Given the description of an element on the screen output the (x, y) to click on. 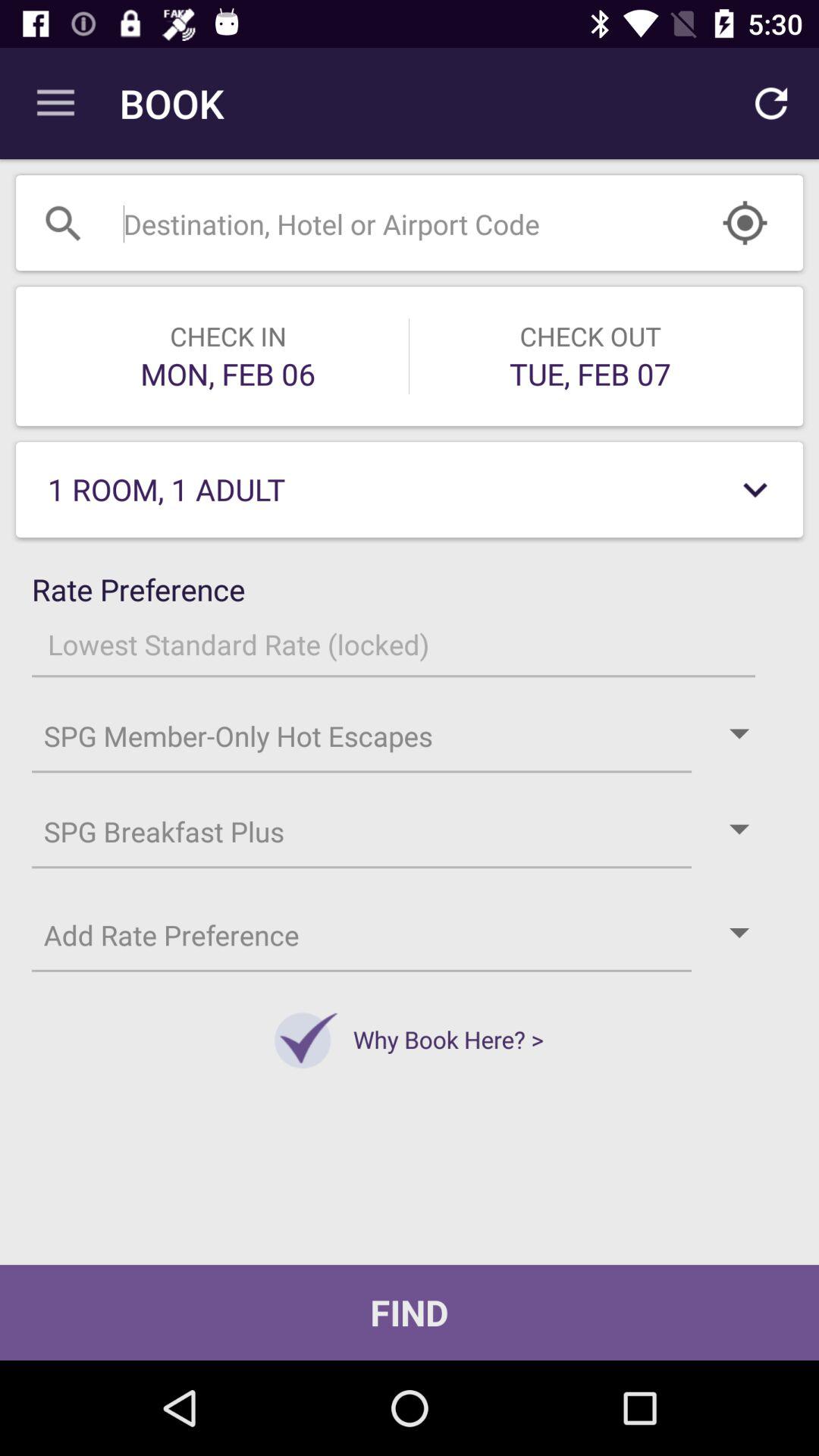
text box for hotel airport or city name (370, 222)
